Given the description of an element on the screen output the (x, y) to click on. 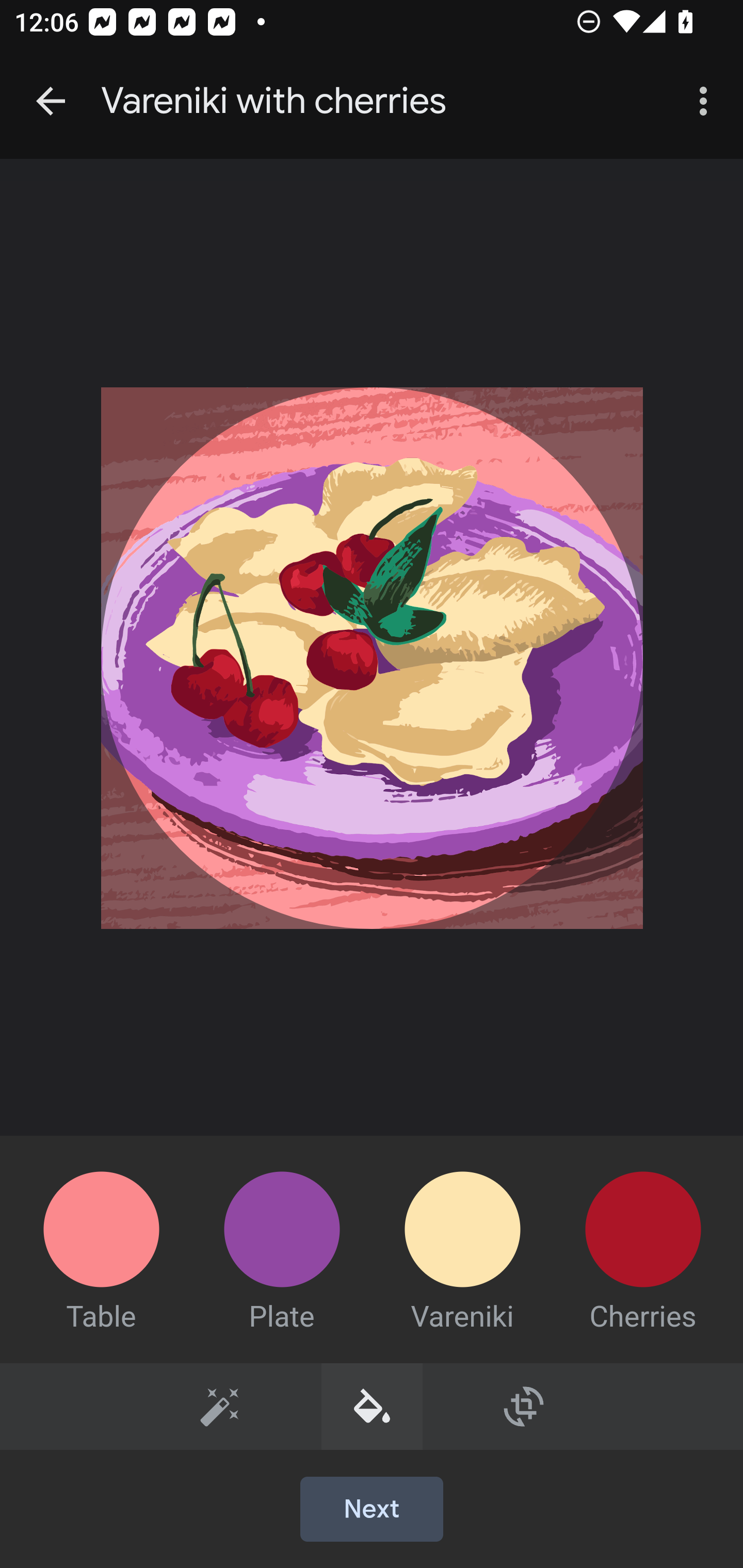
Navigate up (50, 101)
More options (706, 101)
Table (101, 1233)
Plate (281, 1233)
Vareniki (462, 1233)
Cherries (643, 1233)
Presets (220, 1406)
Colorize (372, 1406)
Crop (523, 1406)
Next (371, 1509)
